Given the description of an element on the screen output the (x, y) to click on. 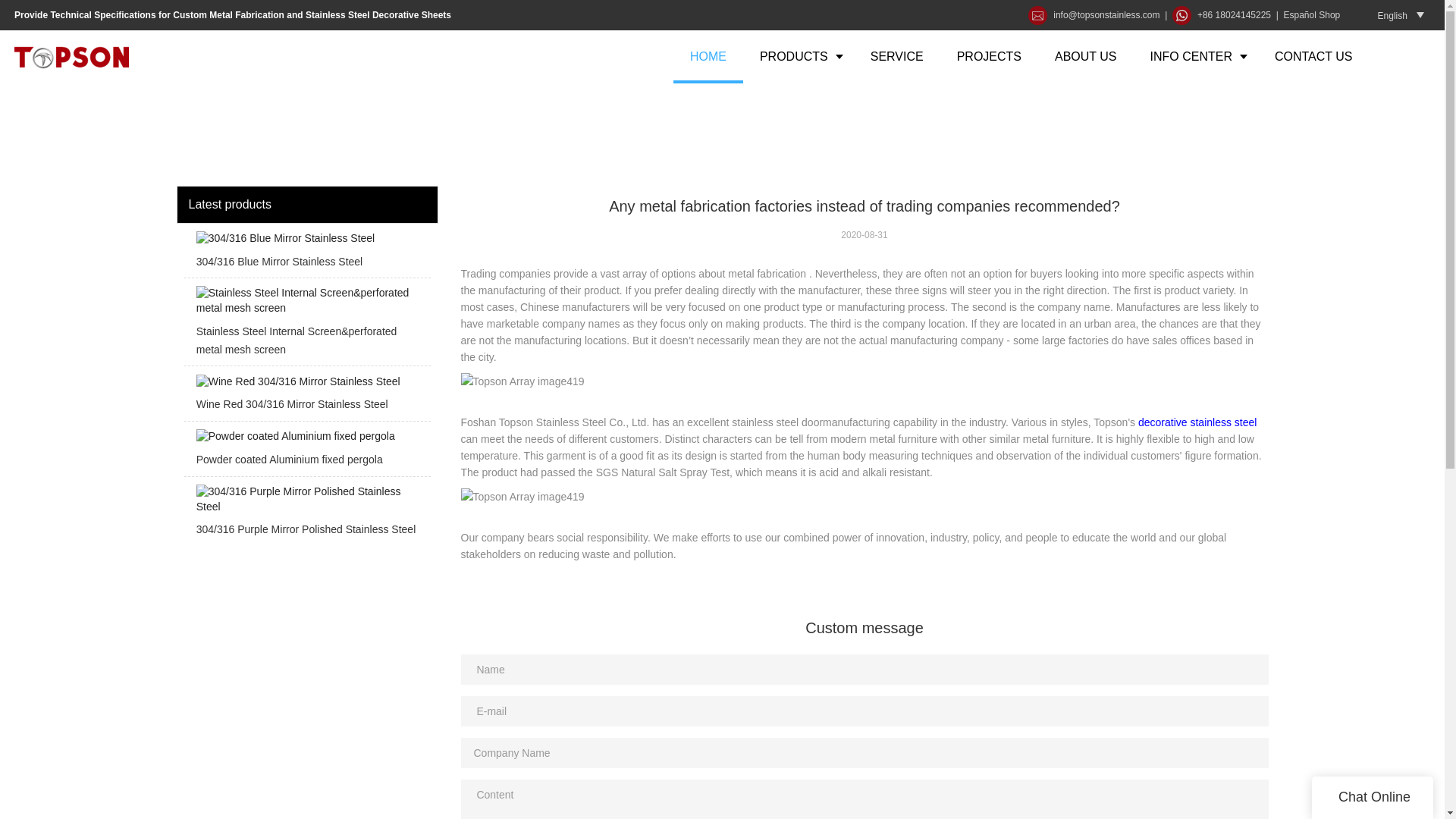
Powder coated Aluminium fixed pergola (306, 452)
PRODUCTS (797, 56)
SERVICE (896, 56)
ABOUT US (1086, 56)
HOME (707, 56)
INFO CENTER (1195, 56)
PROJECTS (989, 56)
CONTACT US (1313, 56)
